Given the description of an element on the screen output the (x, y) to click on. 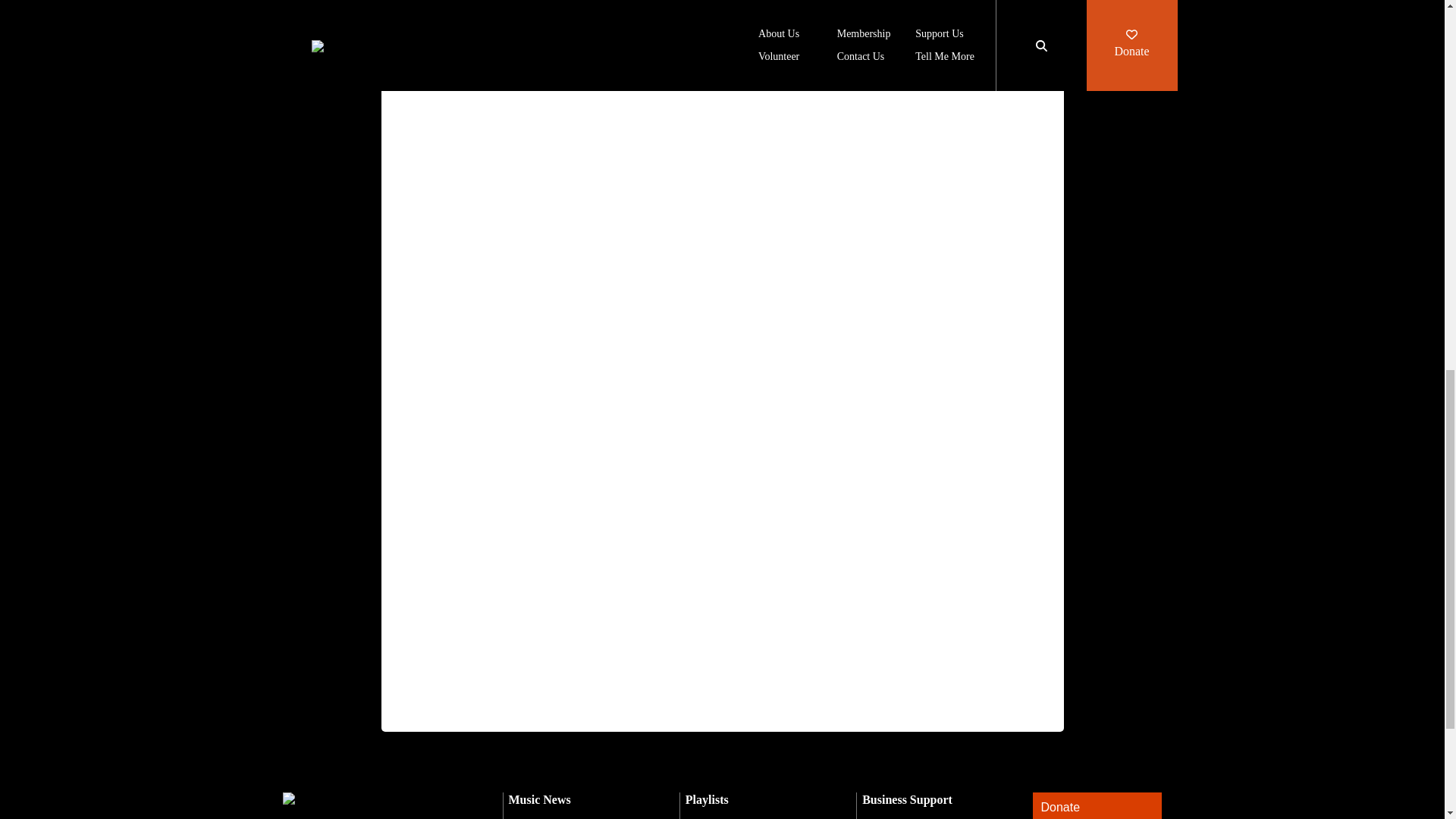
Music News (539, 799)
Business Support (906, 799)
Playlists (707, 799)
The Concert Calendar (566, 818)
Membership (718, 818)
